Given the description of an element on the screen output the (x, y) to click on. 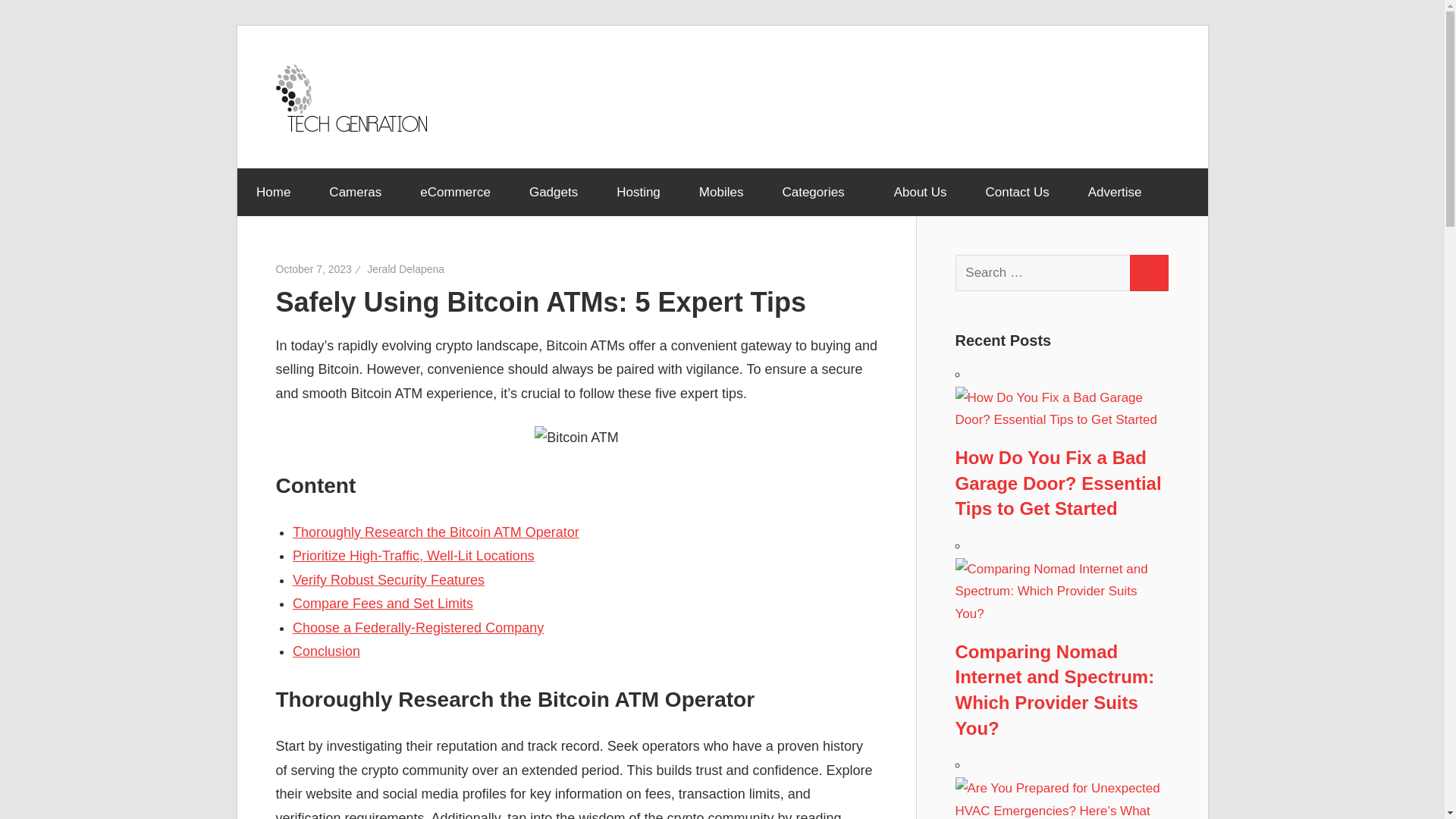
View all posts by Jerald Delapena (405, 268)
Jerald Delapena (405, 268)
Cameras (355, 192)
Bitcoin ATM (576, 437)
Mobiles (720, 192)
Compare Fees and Set Limits (382, 603)
Thoroughly Research the Bitcoin ATM Operator (435, 531)
Hosting (637, 192)
Conclusion (325, 651)
About Us (920, 192)
